Given the description of an element on the screen output the (x, y) to click on. 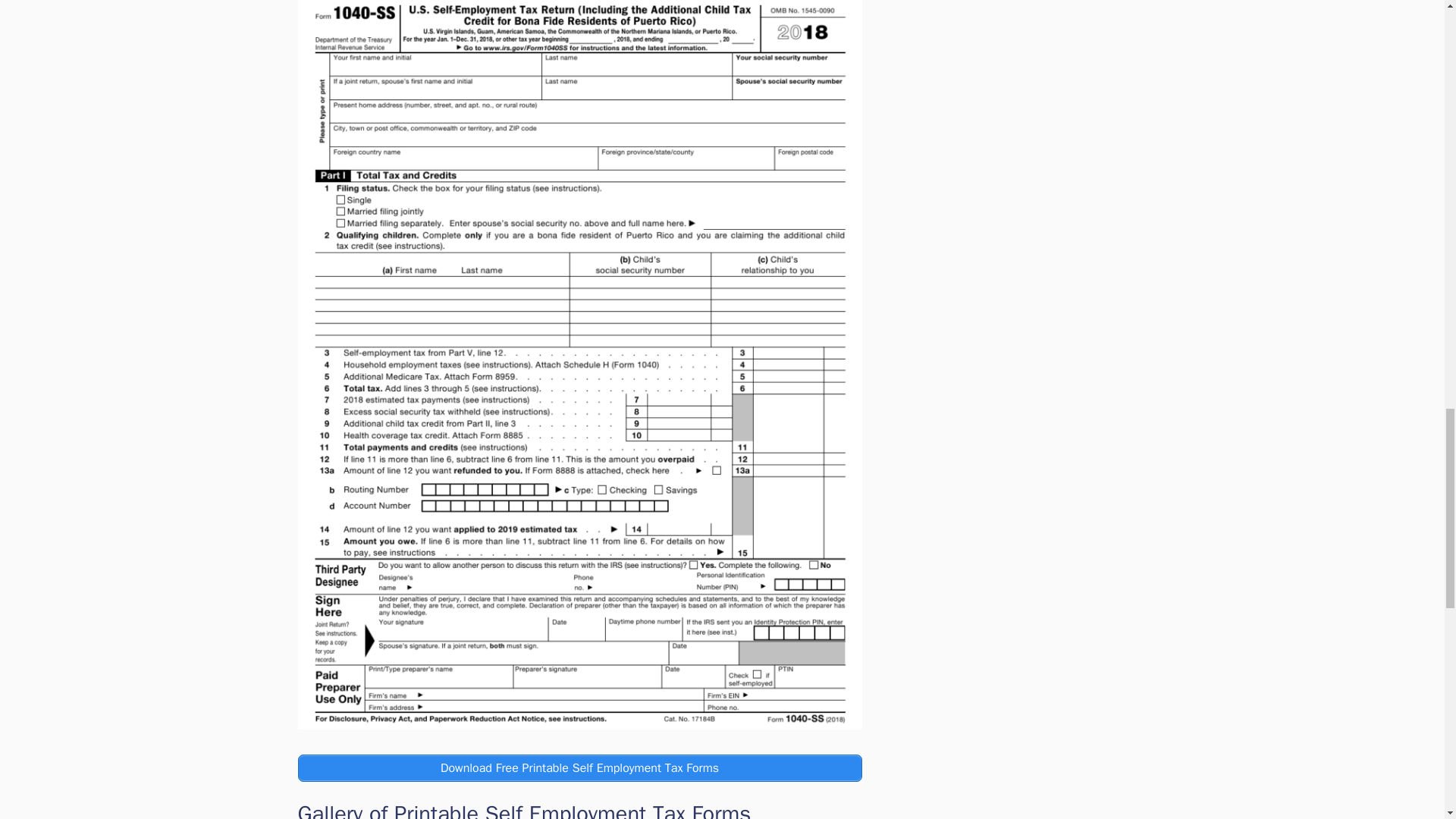
Download Free Printable Self Employment Tax Forms (579, 768)
